Given the description of an element on the screen output the (x, y) to click on. 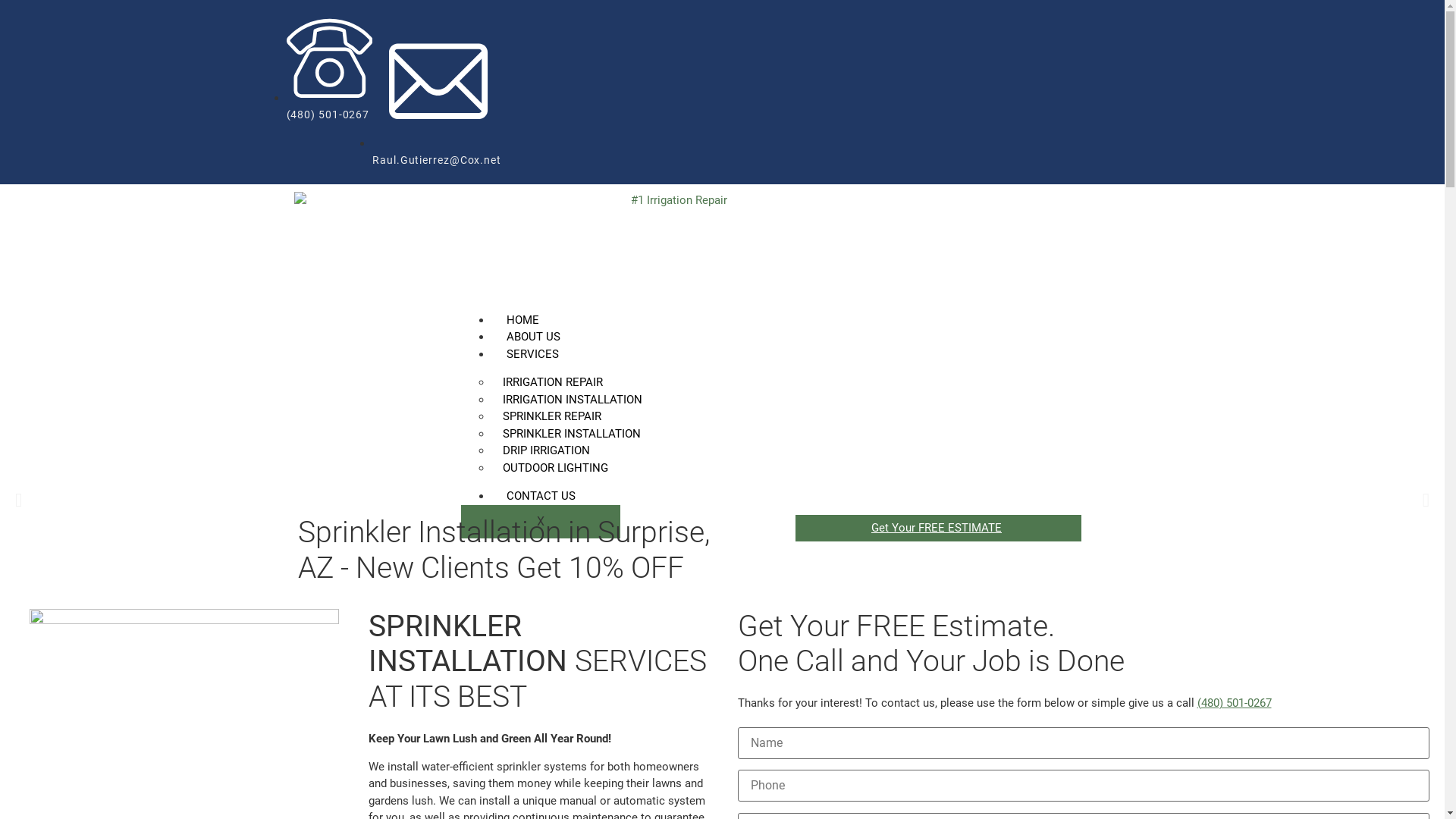
SPRINKLER REPAIR Element type: text (551, 416)
HOME Element type: text (522, 320)
ABOUT US Element type: text (533, 336)
OUTDOOR LIGHTING Element type: text (555, 467)
Get Your FREE ESTIMATE Element type: text (938, 527)
IRRIGATION REPAIR Element type: text (552, 382)
DRIP IRRIGATION Element type: text (546, 450)
(480) 501-0267 Element type: text (1233, 702)
X Element type: text (540, 521)
SPRINKLER INSTALLATION Element type: text (571, 433)
IRRIGATION INSTALLATION Element type: text (572, 399)
CONTACT US Element type: text (540, 495)
SERVICES Element type: text (532, 354)
